Given the description of an element on the screen output the (x, y) to click on. 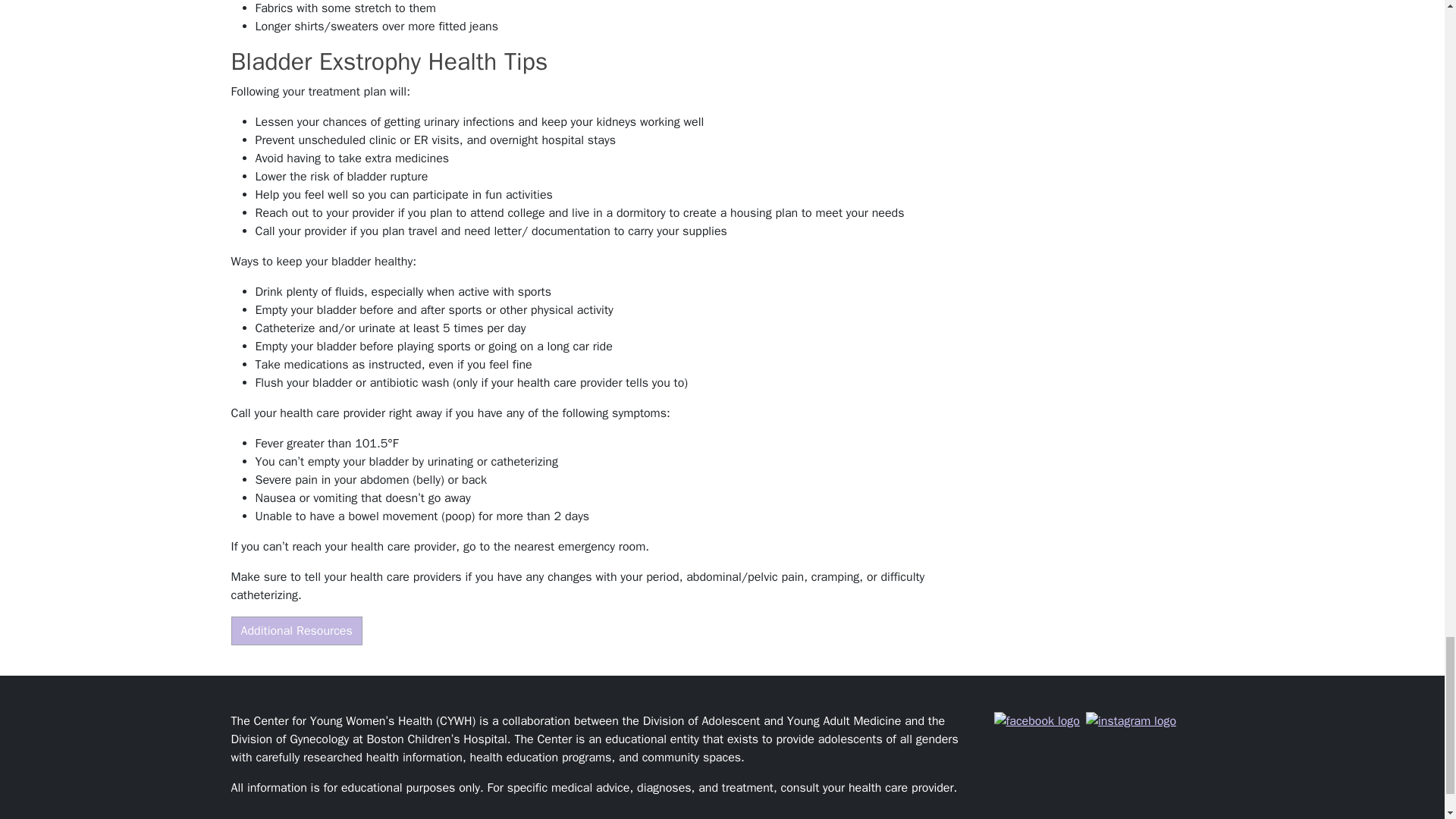
Additional Resources (295, 630)
